Given the description of an element on the screen output the (x, y) to click on. 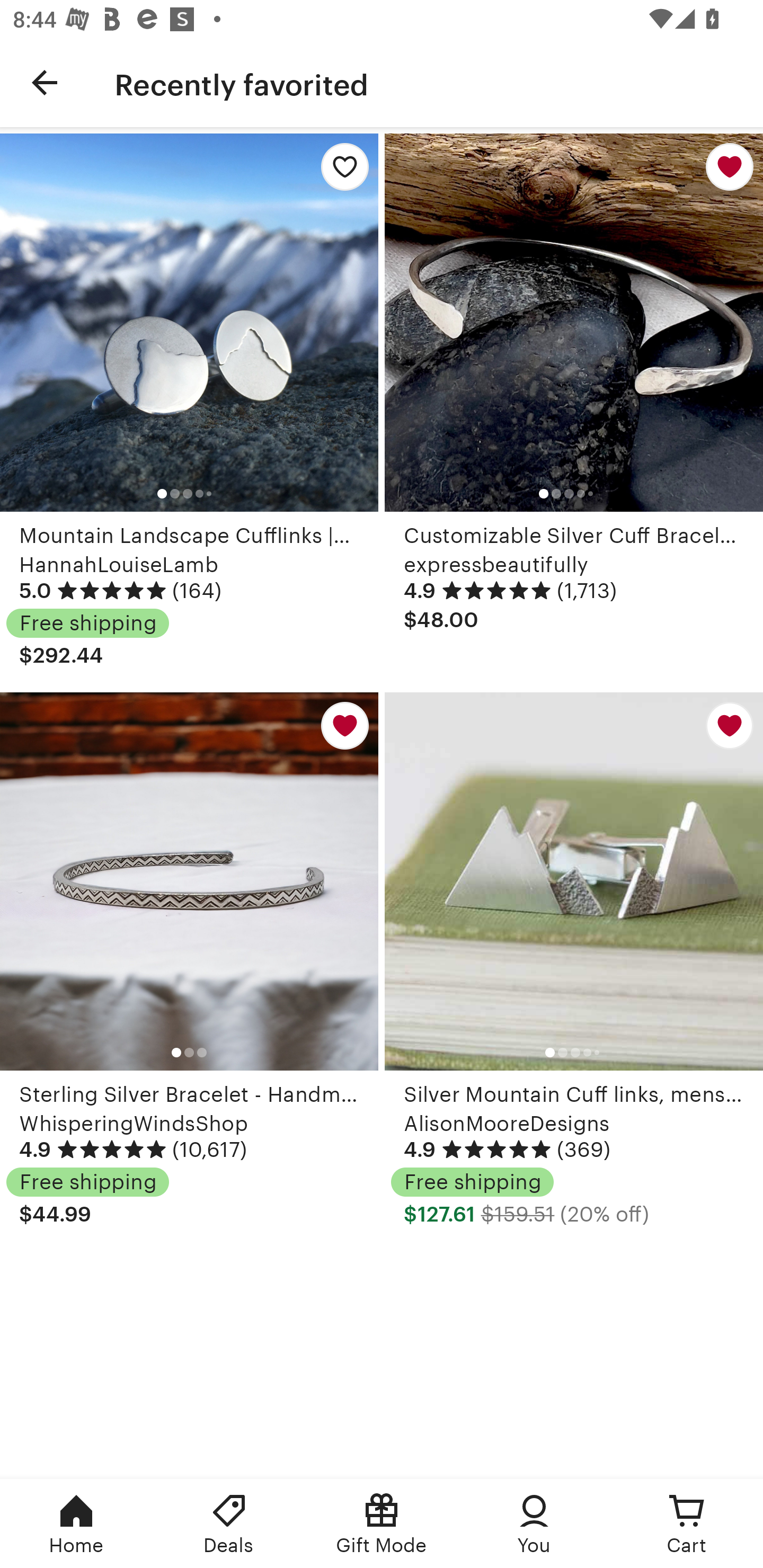
Navigate up (44, 82)
Deals (228, 1523)
Gift Mode (381, 1523)
You (533, 1523)
Cart (686, 1523)
